Given the description of an element on the screen output the (x, y) to click on. 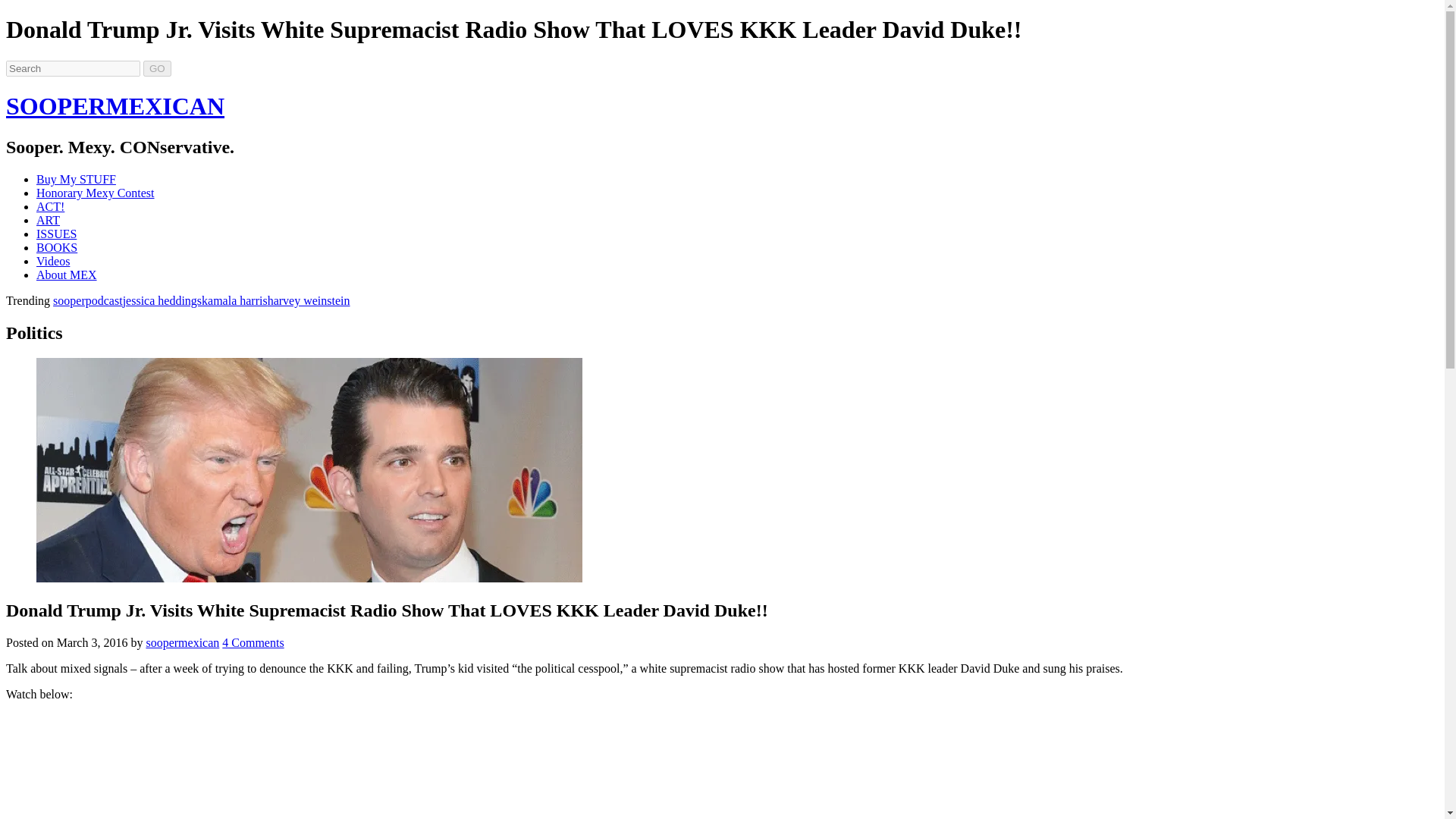
SOOPERMEXICAN (114, 105)
soopermexican (182, 642)
ART (47, 219)
About MEX (66, 274)
Videos (52, 260)
GO (156, 68)
kamala harris (234, 300)
sooperpodcast (87, 300)
GO (156, 68)
